Given the description of an element on the screen output the (x, y) to click on. 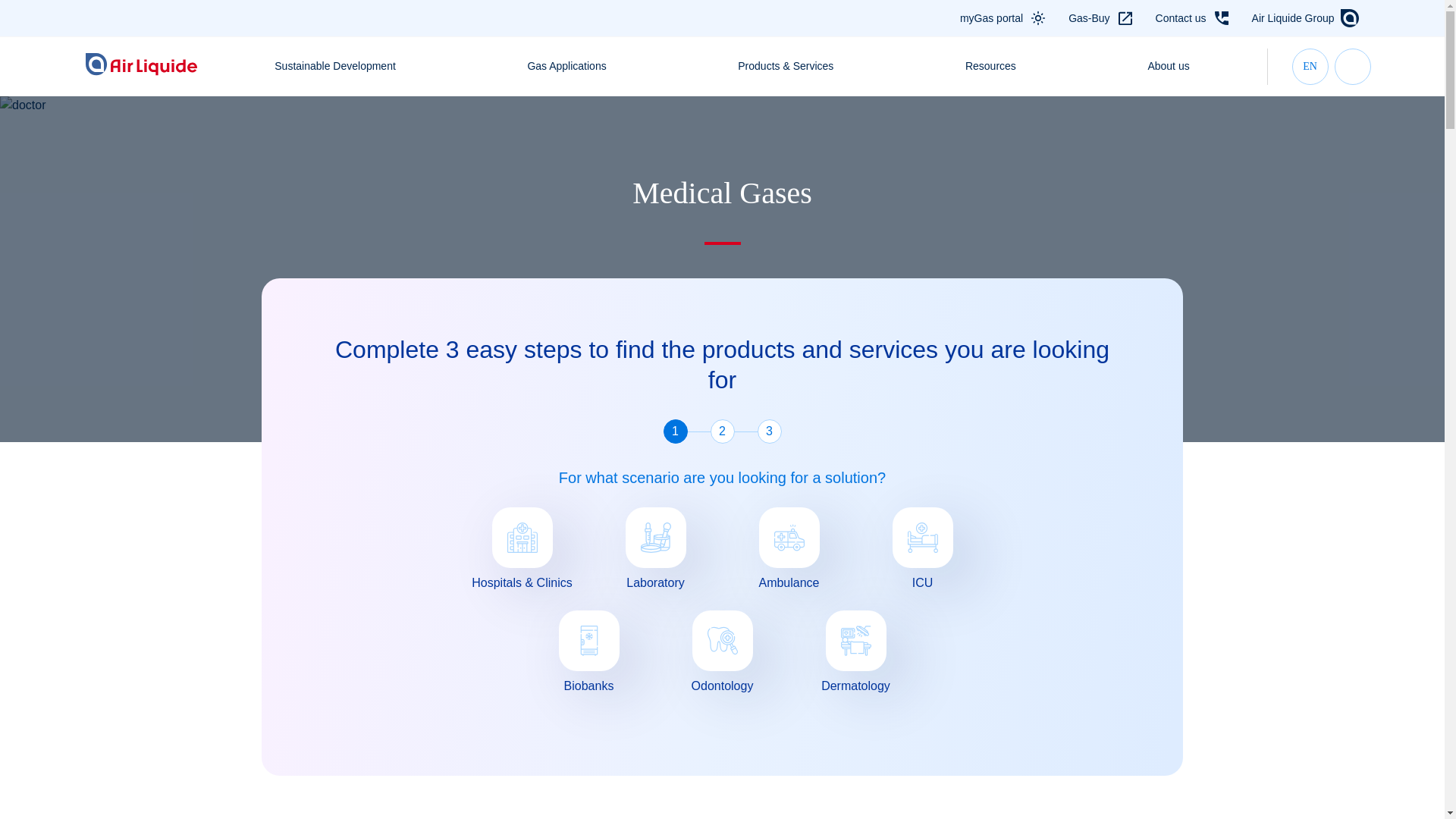
Contact us (1181, 18)
3 (768, 431)
2 (721, 431)
Gas Applications (566, 65)
1 (674, 431)
Sustainable Development (334, 65)
myGas portal (991, 18)
Gas-Buy (1088, 18)
Air Liquide Group (1293, 18)
